Given the description of an element on the screen output the (x, y) to click on. 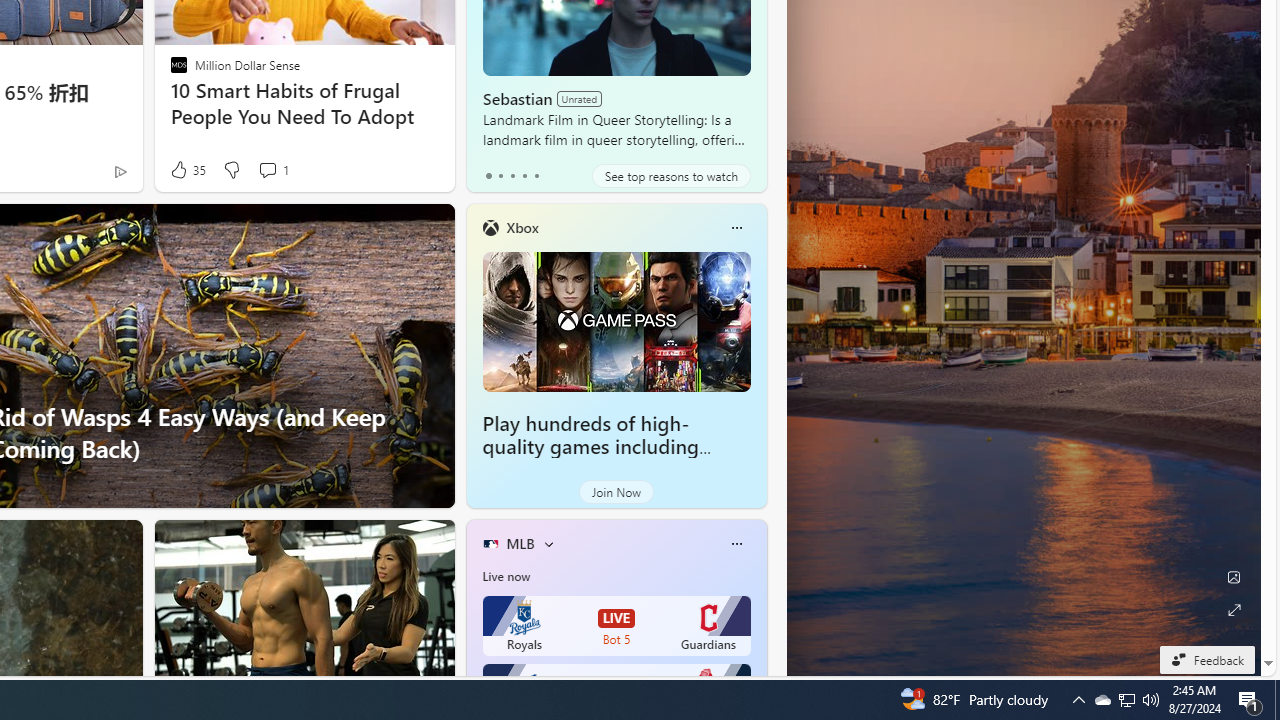
tab-1 (500, 175)
Xbox (521, 227)
Join Now (616, 491)
